Given the description of an element on the screen output the (x, y) to click on. 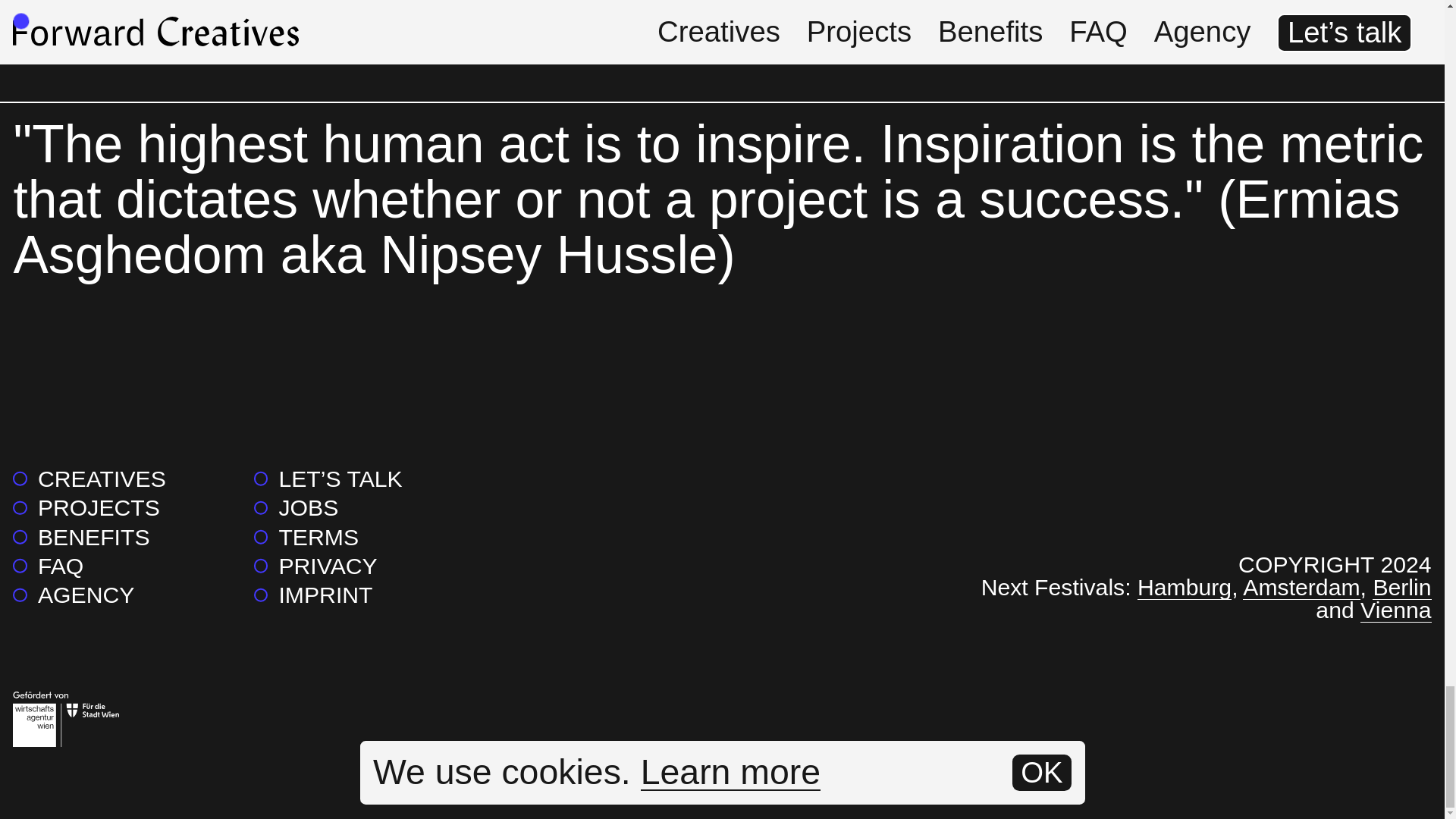
BENEFITS (81, 536)
PRIVACY (315, 565)
FAQ (47, 565)
PROJECTS (86, 507)
AGENCY (73, 594)
JOBS (295, 507)
Vienna (1395, 609)
TERMS (305, 536)
Hamburg (1184, 586)
Amsterdam (1301, 586)
CREATIVES (89, 478)
IMPRINT (312, 594)
Berlin (1402, 586)
